Given the description of an element on the screen output the (x, y) to click on. 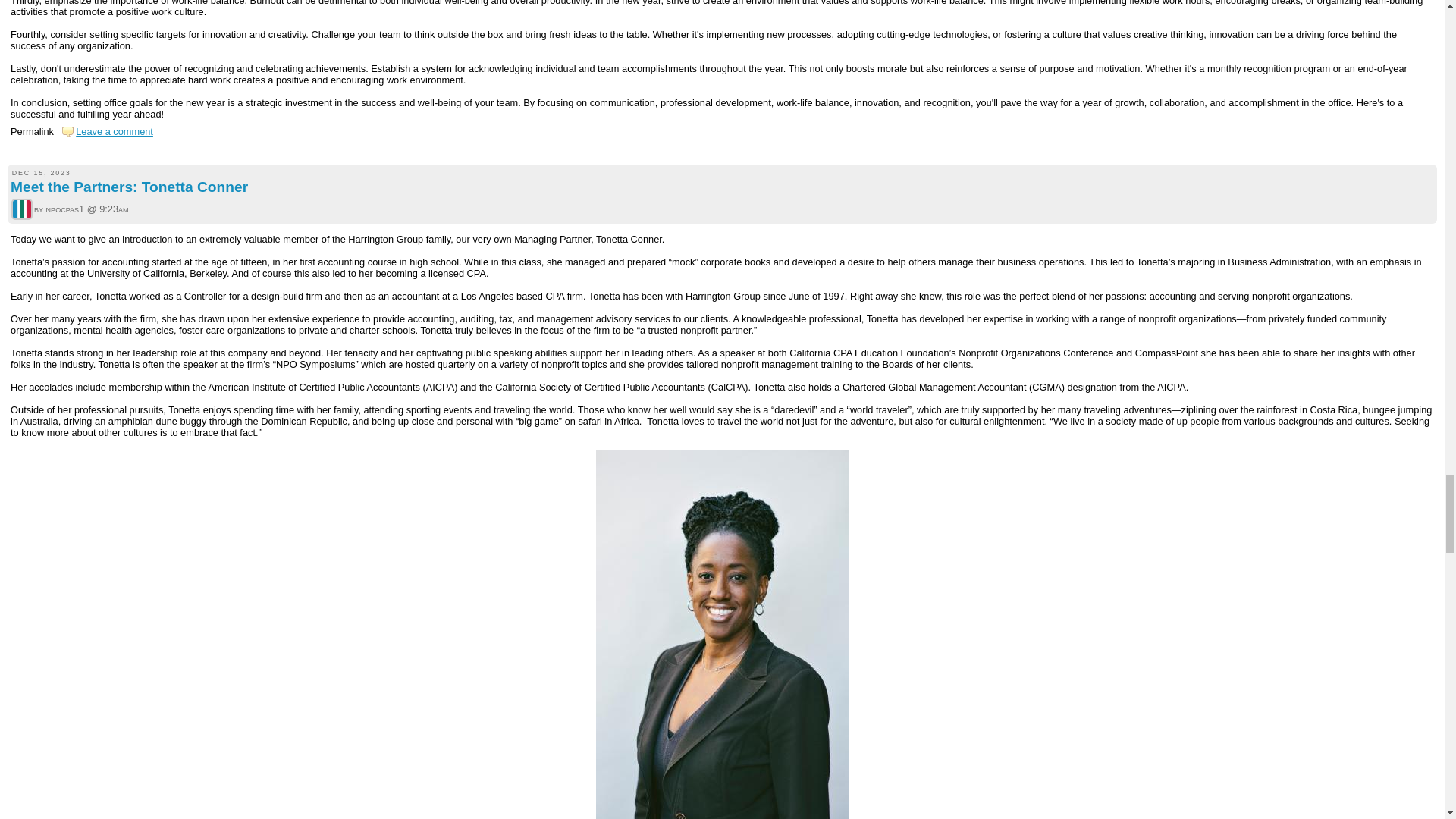
npocpas1 (21, 209)
View profile of npocpas1 (21, 210)
